Given the description of an element on the screen output the (x, y) to click on. 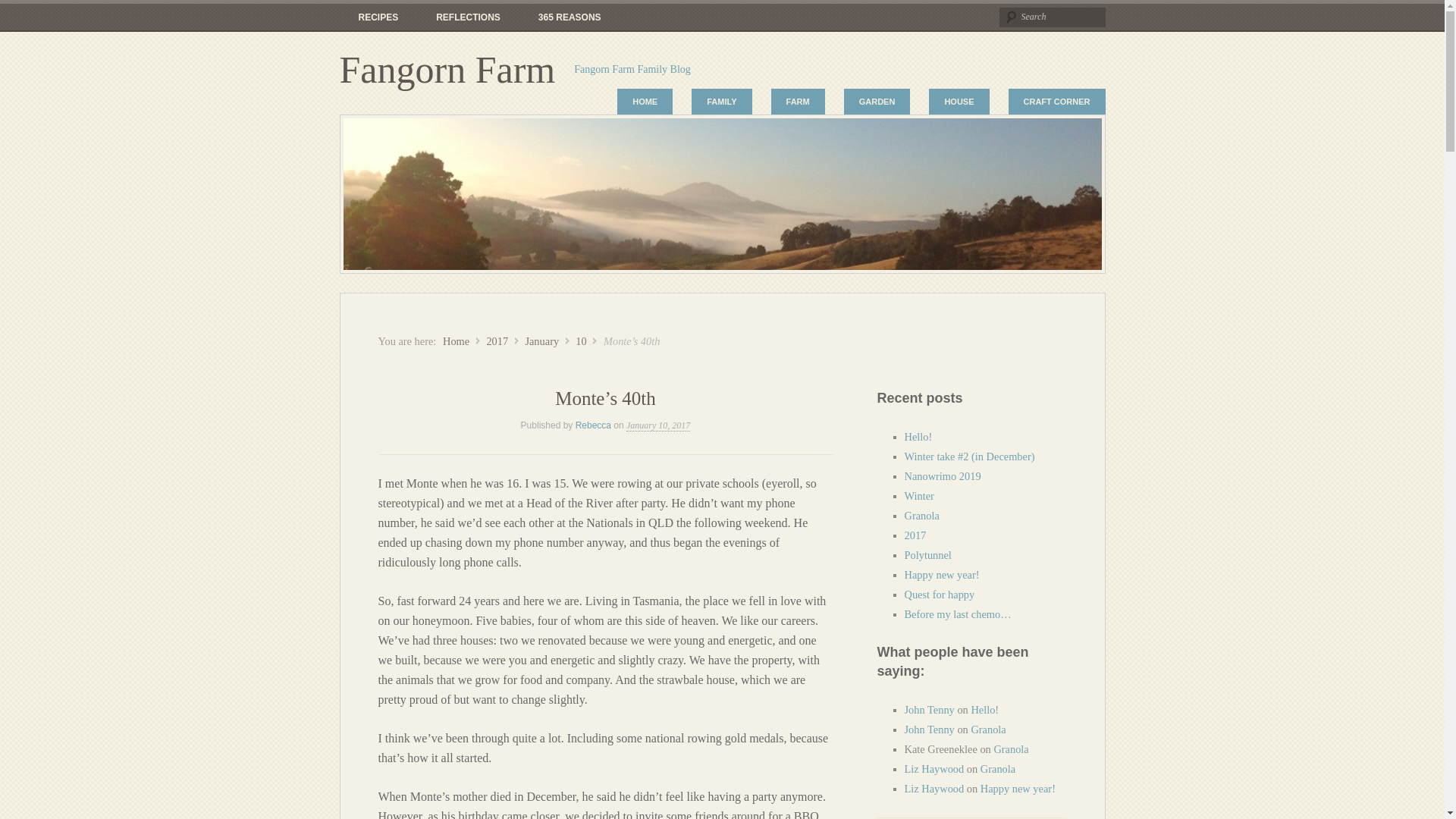
Search (1051, 17)
Fangorn Farm (455, 340)
Search (1051, 17)
Winter (918, 495)
Hello! (917, 436)
Rebecca (593, 425)
January (541, 340)
Our annual Christmas letter (467, 17)
HOME (644, 101)
2017 (497, 340)
365 REASONS (569, 17)
2017 (497, 340)
Tuesday, January 10th, 2017, 9:42 am (658, 425)
Fangorn Farm (447, 69)
Home (455, 340)
